Given the description of an element on the screen output the (x, y) to click on. 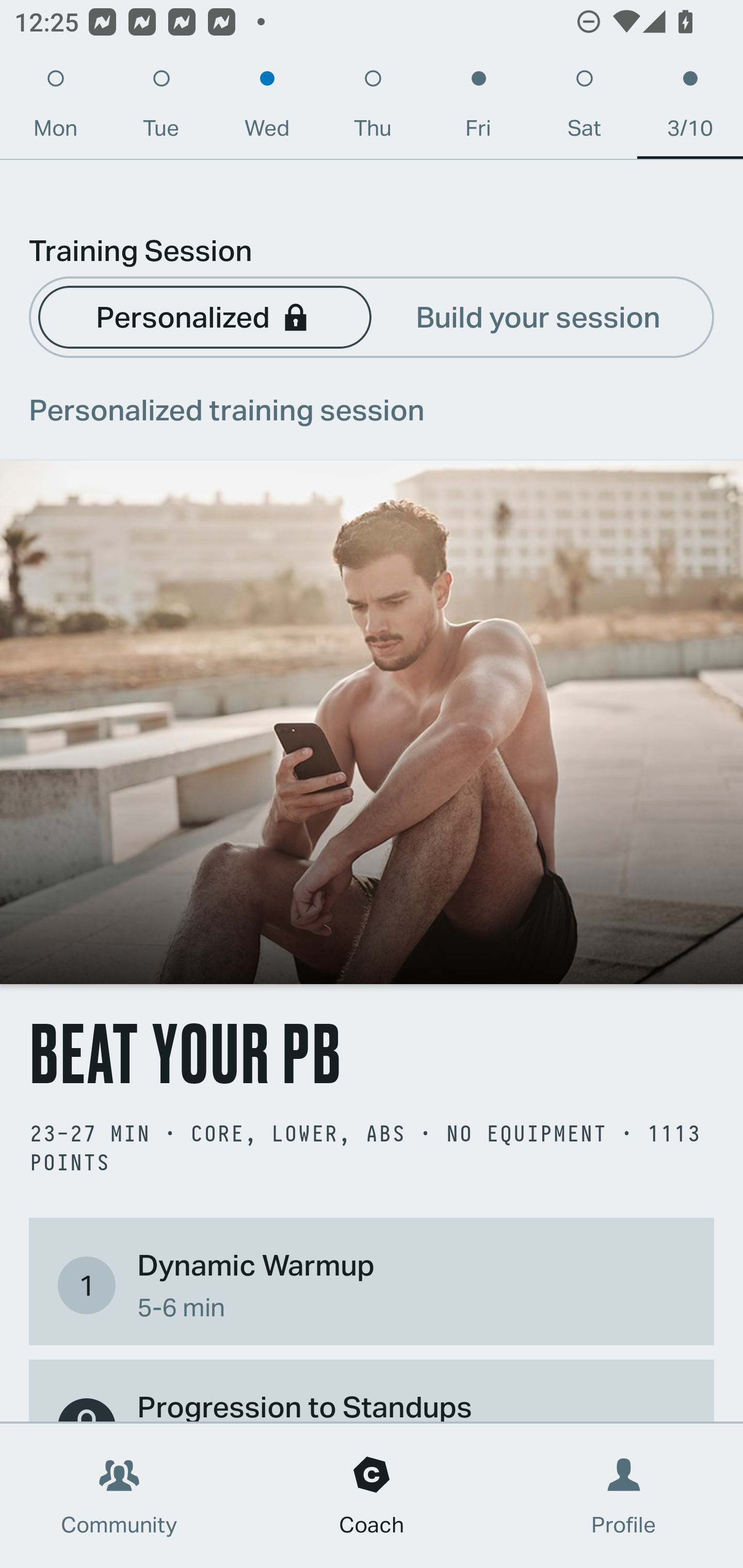
Mon (55, 108)
Tue (160, 108)
Wed (266, 108)
Thu (372, 108)
Fri (478, 108)
Sat (584, 108)
3/10 (690, 108)
Personalized (204, 315)
Build your session (538, 315)
1 Dynamic Warmup 5-6 min (371, 1284)
Community (119, 1495)
Profile (624, 1495)
